Given the description of an element on the screen output the (x, y) to click on. 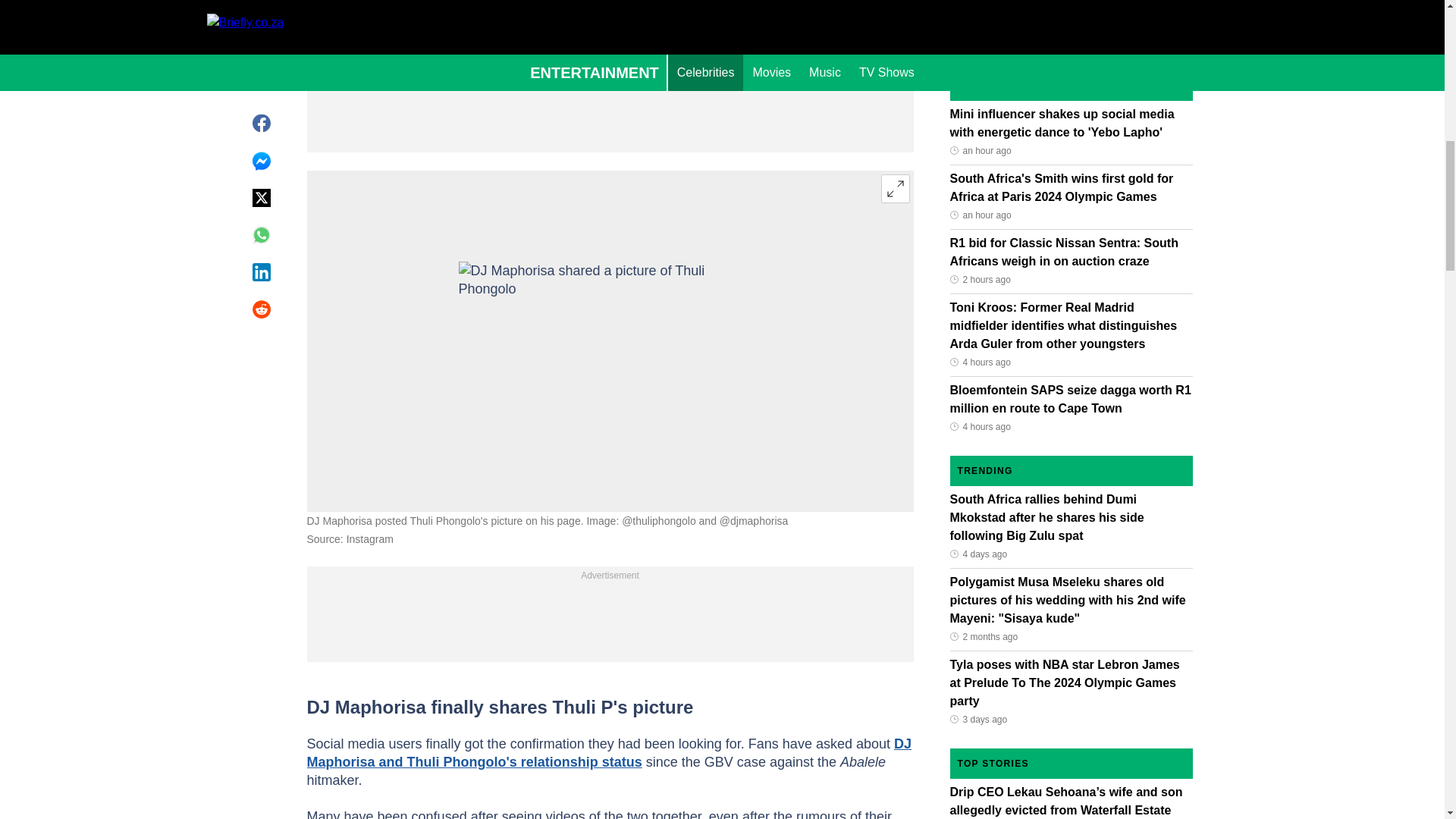
Expand image (895, 188)
DJ Maphorisa shared a picture of Thuli Phongolo (609, 340)
